Given the description of an element on the screen output the (x, y) to click on. 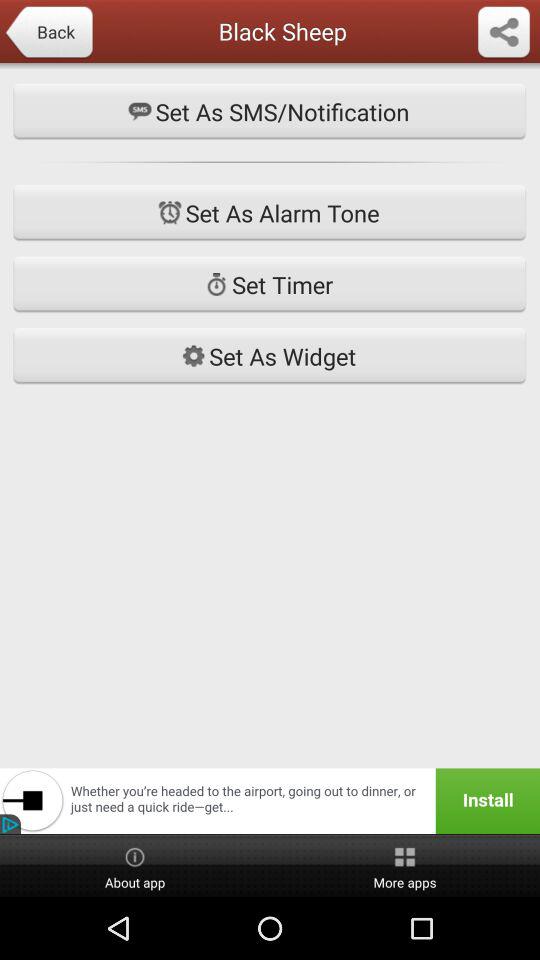
open the item at the bottom right corner (405, 866)
